Given the description of an element on the screen output the (x, y) to click on. 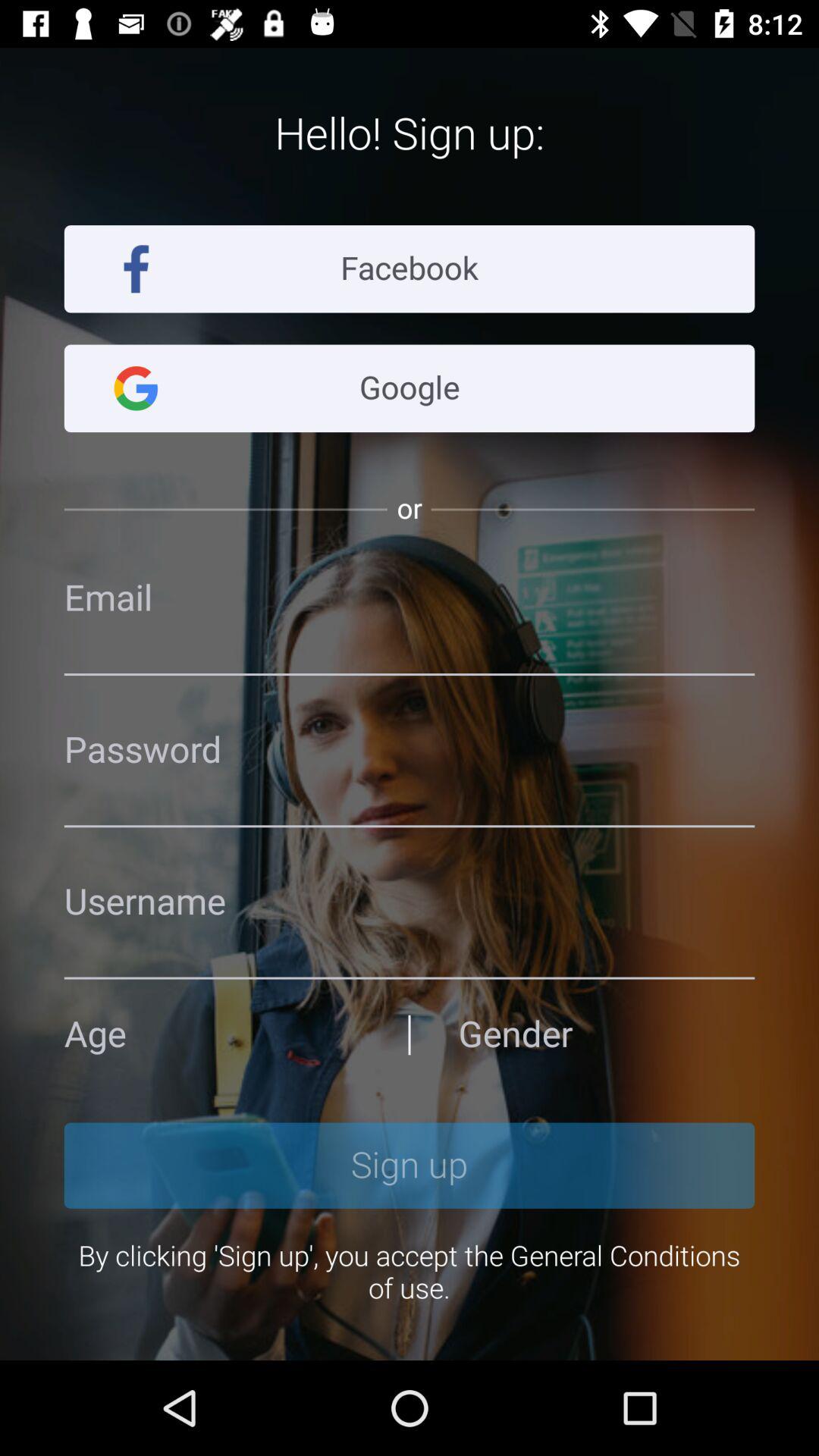
address page (409, 598)
